Given the description of an element on the screen output the (x, y) to click on. 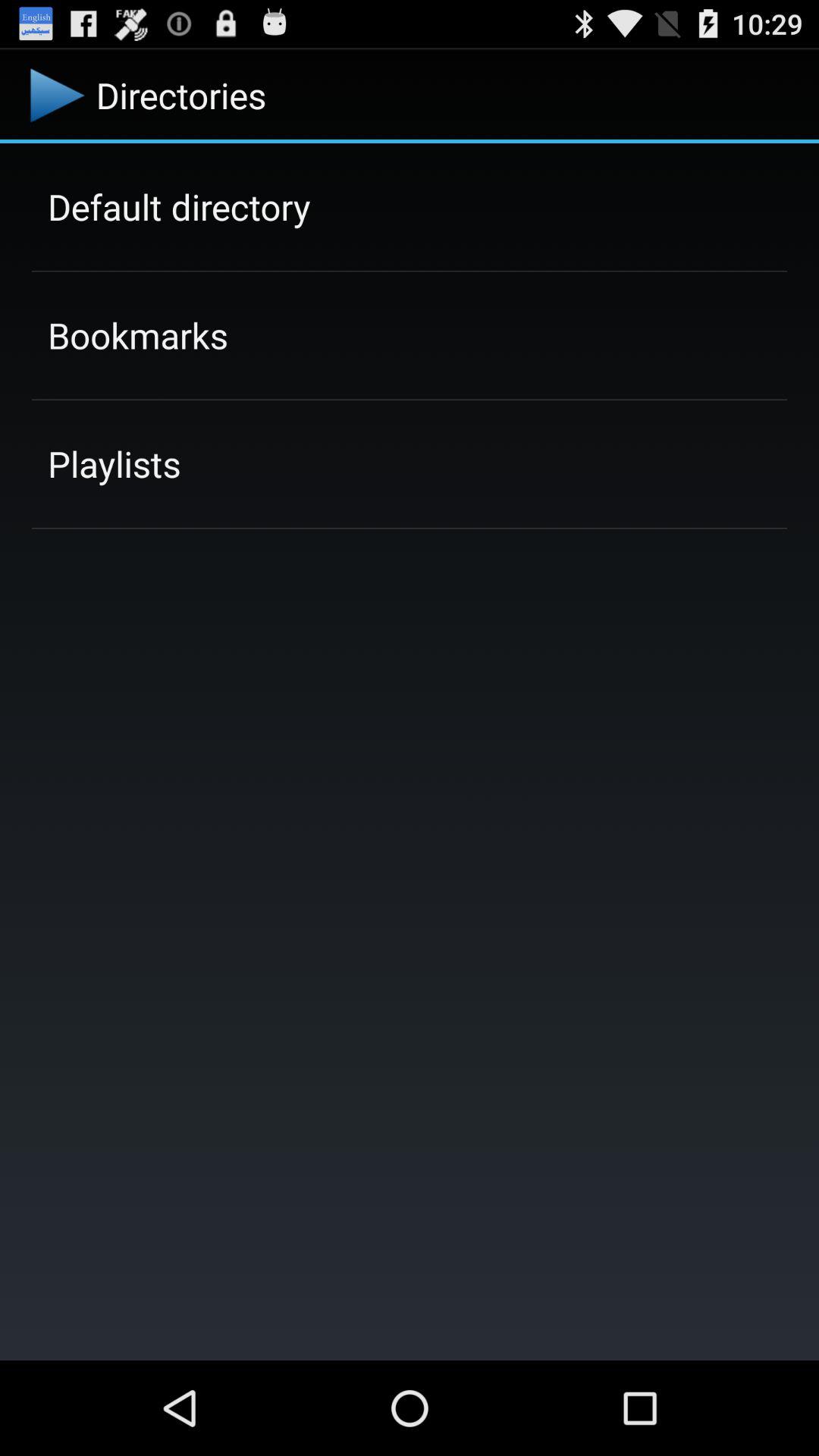
jump until the playlists item (113, 463)
